Given the description of an element on the screen output the (x, y) to click on. 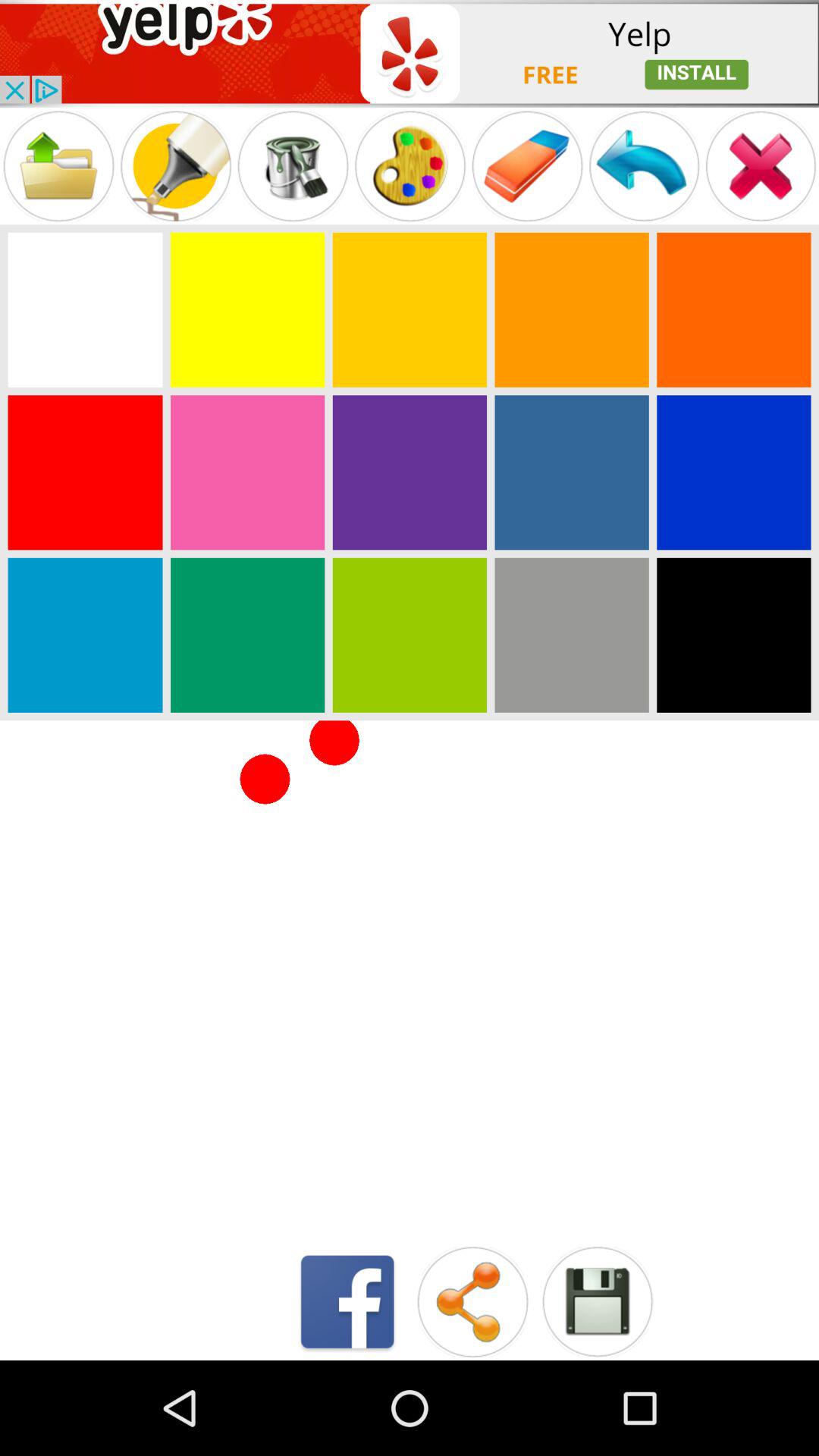
colours (733, 309)
